Given the description of an element on the screen output the (x, y) to click on. 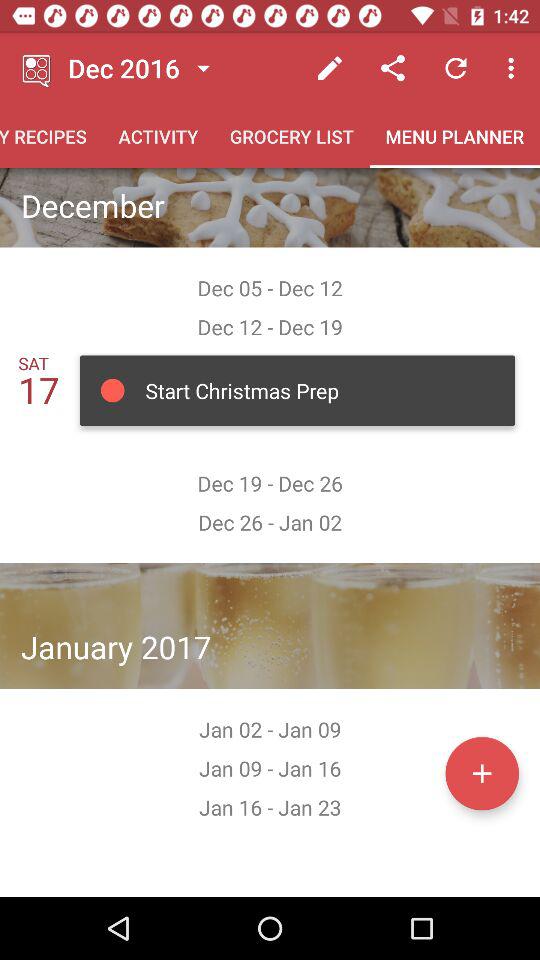
click the button below dec 12  dec 19 (297, 390)
click on start christmas prep right to sat 17 (297, 391)
click on the icon on the right side of dec 2016 (203, 67)
click on the icon on the left side of dec 2016 (37, 68)
click on share icon (392, 68)
click on edit icon (330, 68)
